Given the description of an element on the screen output the (x, y) to click on. 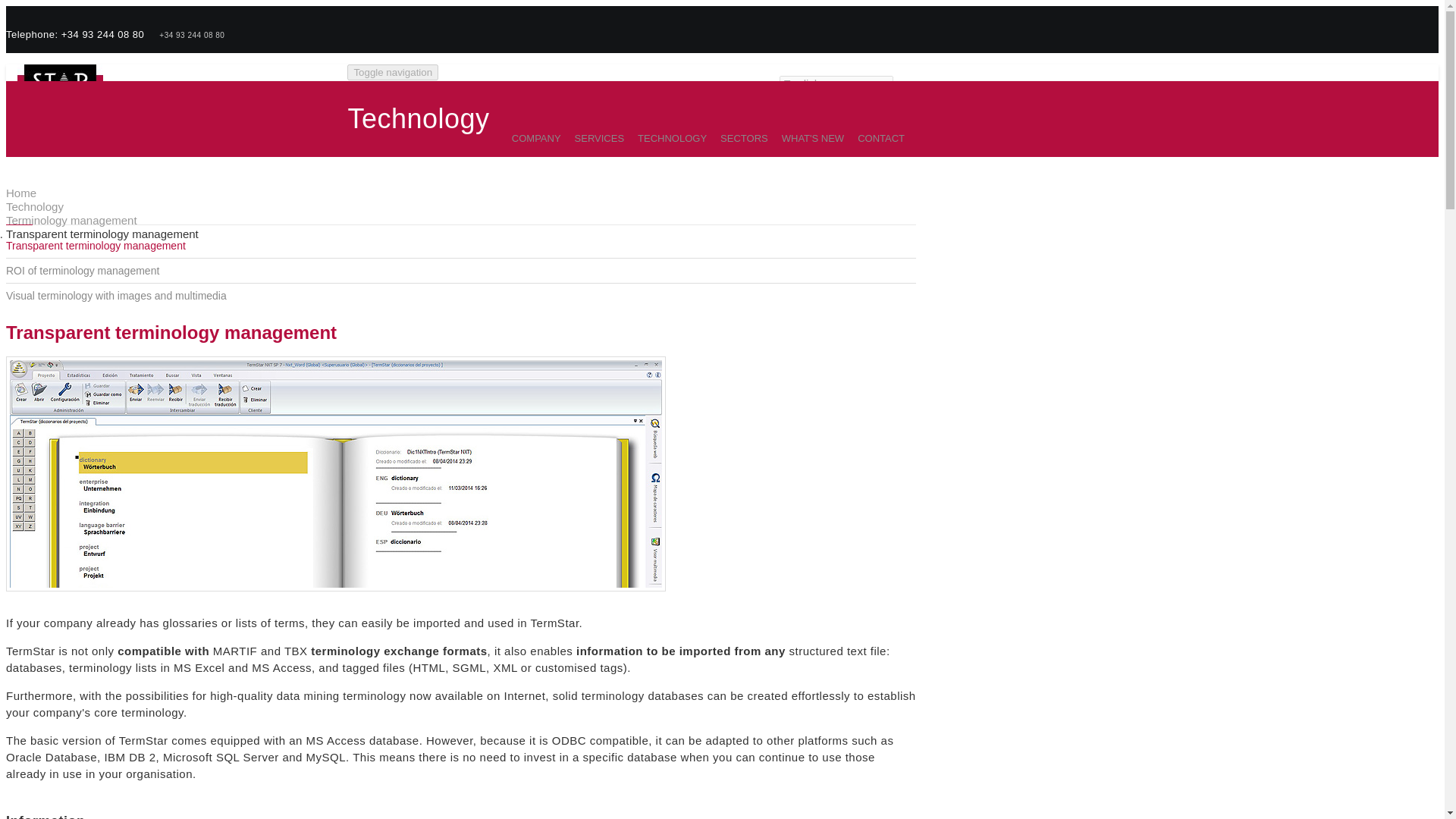
Home (66, 86)
COMPANY (528, 138)
SERVICES (592, 138)
Toggle navigation (392, 72)
FREE QUOTE (742, 95)
TECHNOLOGY (665, 138)
SECTORS (737, 138)
